Given the description of an element on the screen output the (x, y) to click on. 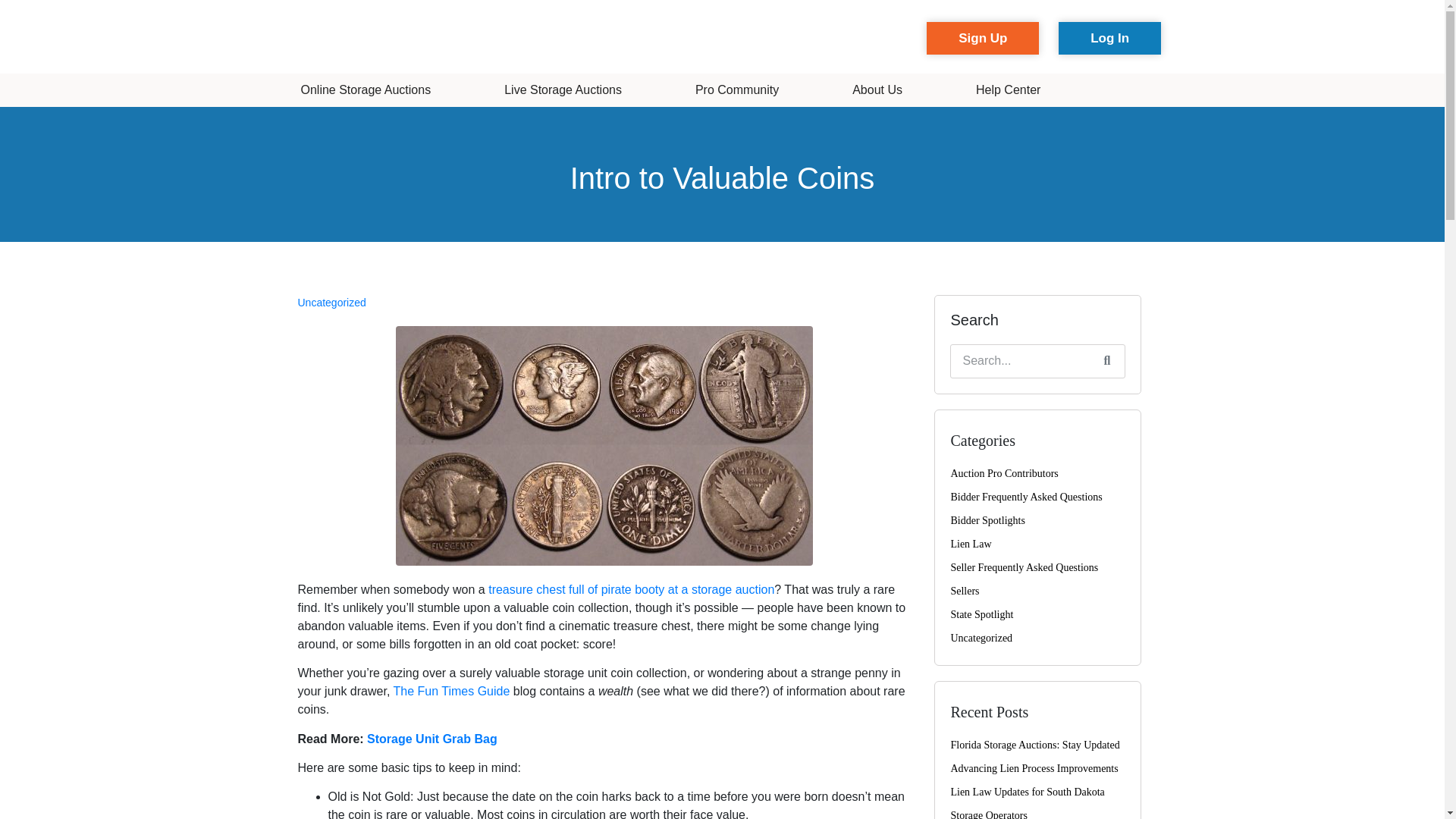
Uncategorized (331, 302)
The Fun Times Guide (451, 690)
About Us (877, 90)
Help Center (1007, 90)
Pro Community (737, 90)
Storage Unit Grab Bag (431, 738)
Sign Up (982, 38)
treasure chest full of pirate booty at a storage auction (630, 589)
Online Storage Auctions (366, 90)
Log In (1109, 38)
Live Storage Auctions (563, 90)
